Given the description of an element on the screen output the (x, y) to click on. 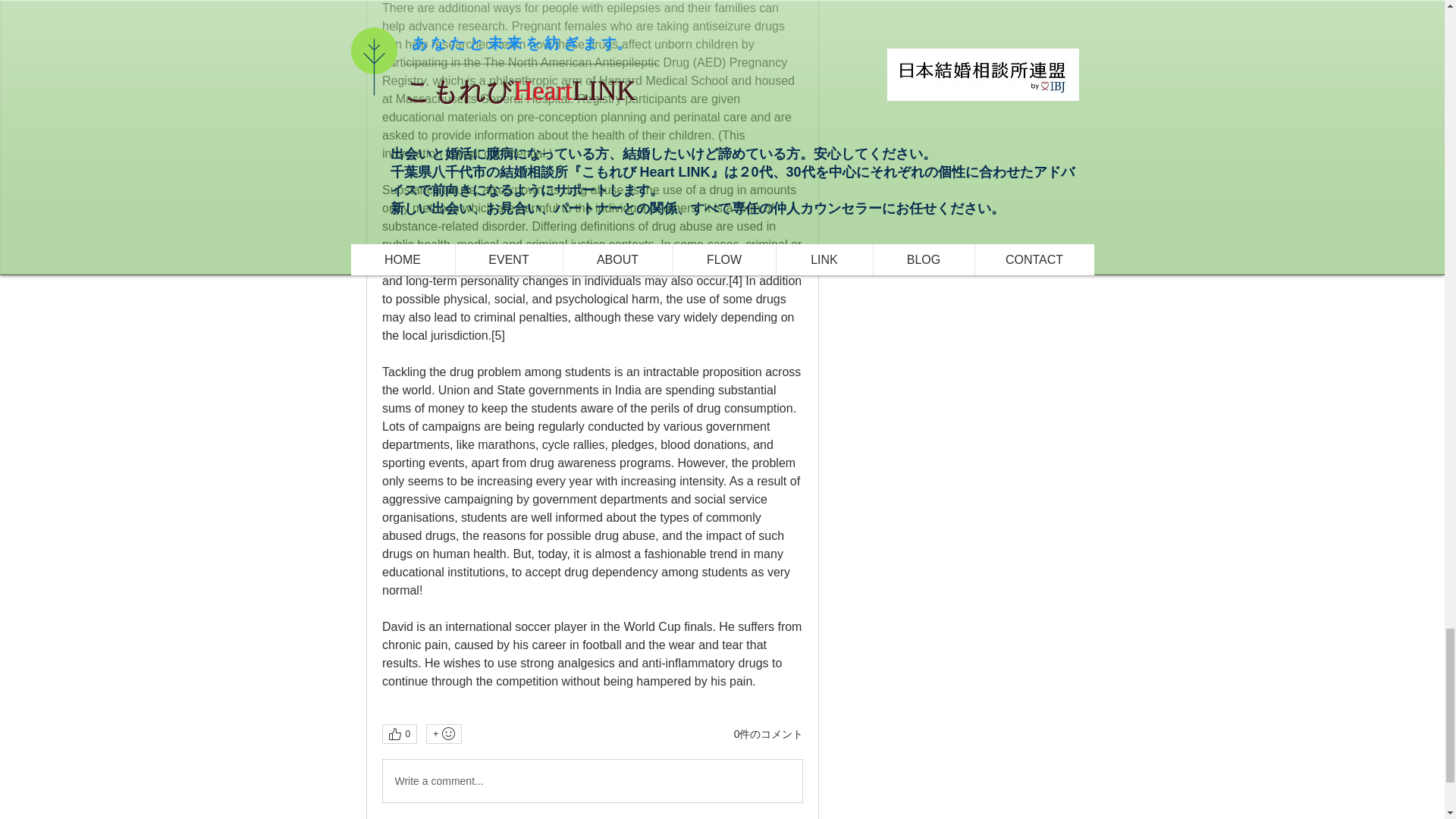
Write a comment... (591, 781)
